Given the description of an element on the screen output the (x, y) to click on. 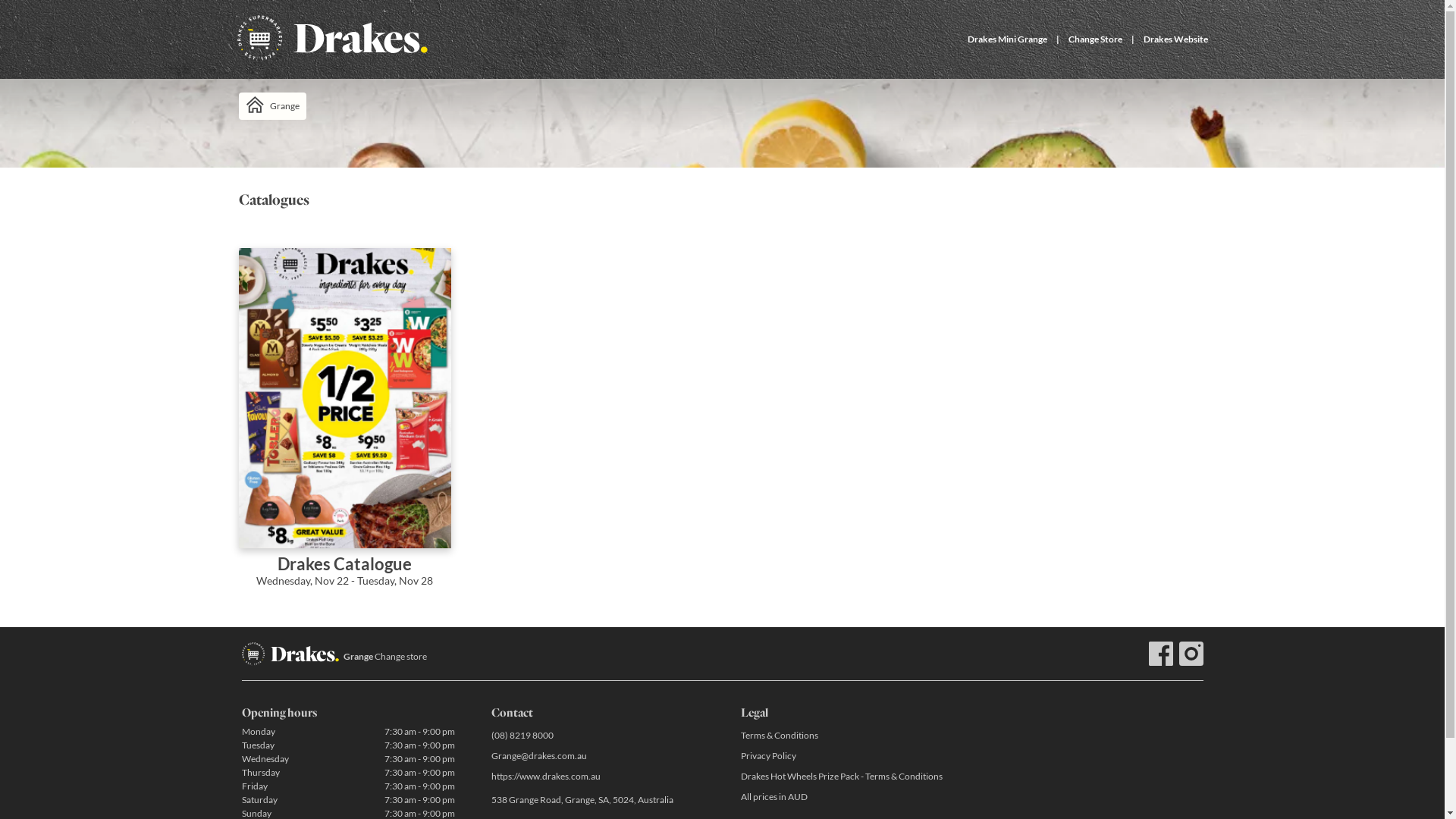
(08) 8219 8000 Element type: text (597, 734)
Change Store Element type: text (1094, 38)
Privacy Policy Element type: text (846, 755)
Drakes Website Element type: text (1175, 38)
Terms & Conditions Element type: text (846, 734)
538 Grange Road, Grange, SA, 5024, Australia Element type: text (597, 800)
Drakes Catalogue
Wednesday, Nov 22 - Tuesday, Nov 28 Element type: text (344, 427)
https://www.drakes.com.au Element type: text (597, 775)
Grange Change store Element type: text (384, 656)
Facebook Element type: hover (1160, 653)
Grange@drakes.com.au Element type: text (597, 755)
Drakes Hot Wheels Prize Pack - Terms & Conditions Element type: text (846, 775)
Grange Element type: text (271, 105)
Instagram drakessupermarkets Element type: hover (1190, 653)
